Given the description of an element on the screen output the (x, y) to click on. 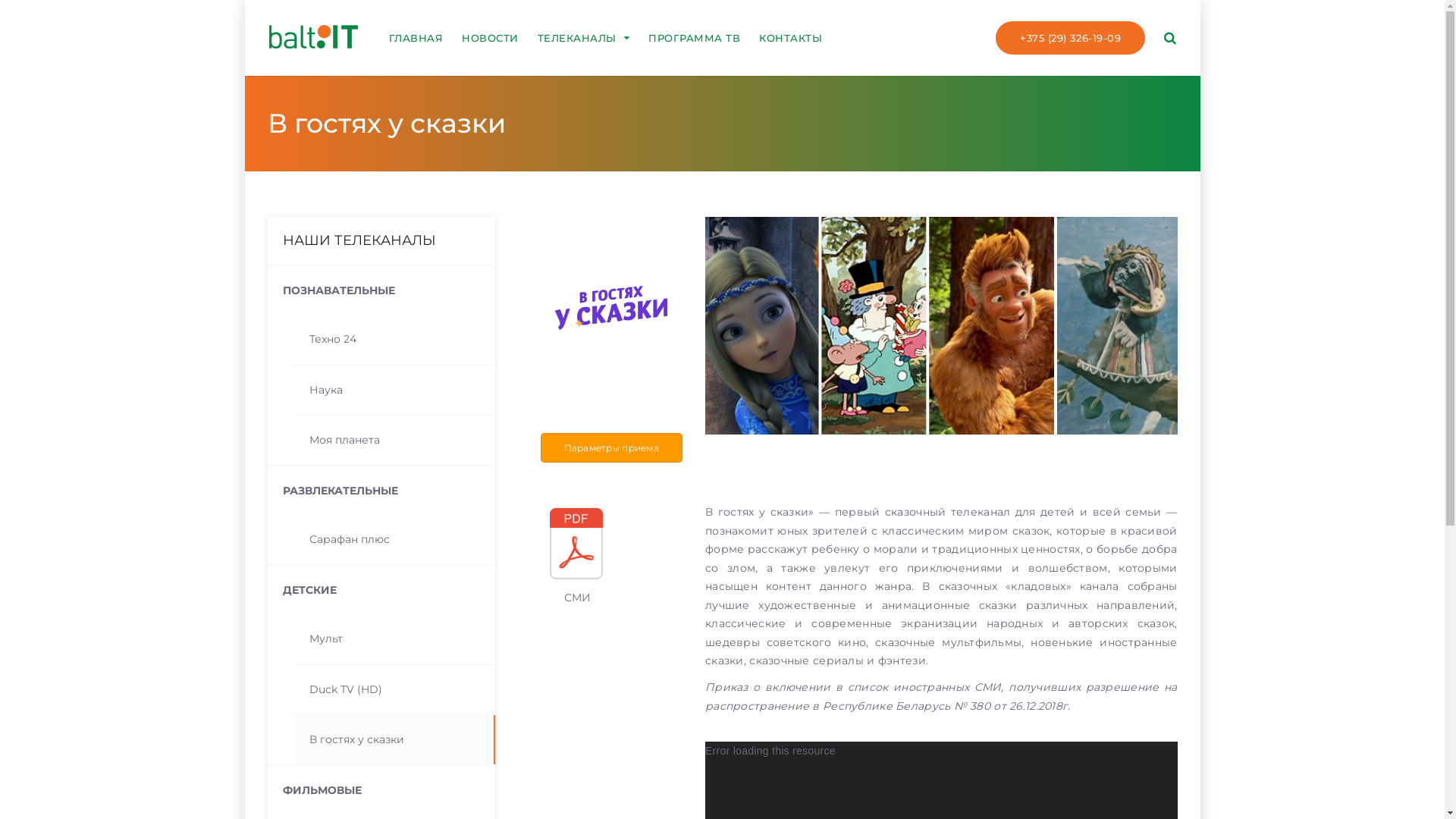
Duck TV (HD) Element type: text (394, 689)
+375 (29) 326-19-09 Element type: text (1070, 37)
